Given the description of an element on the screen output the (x, y) to click on. 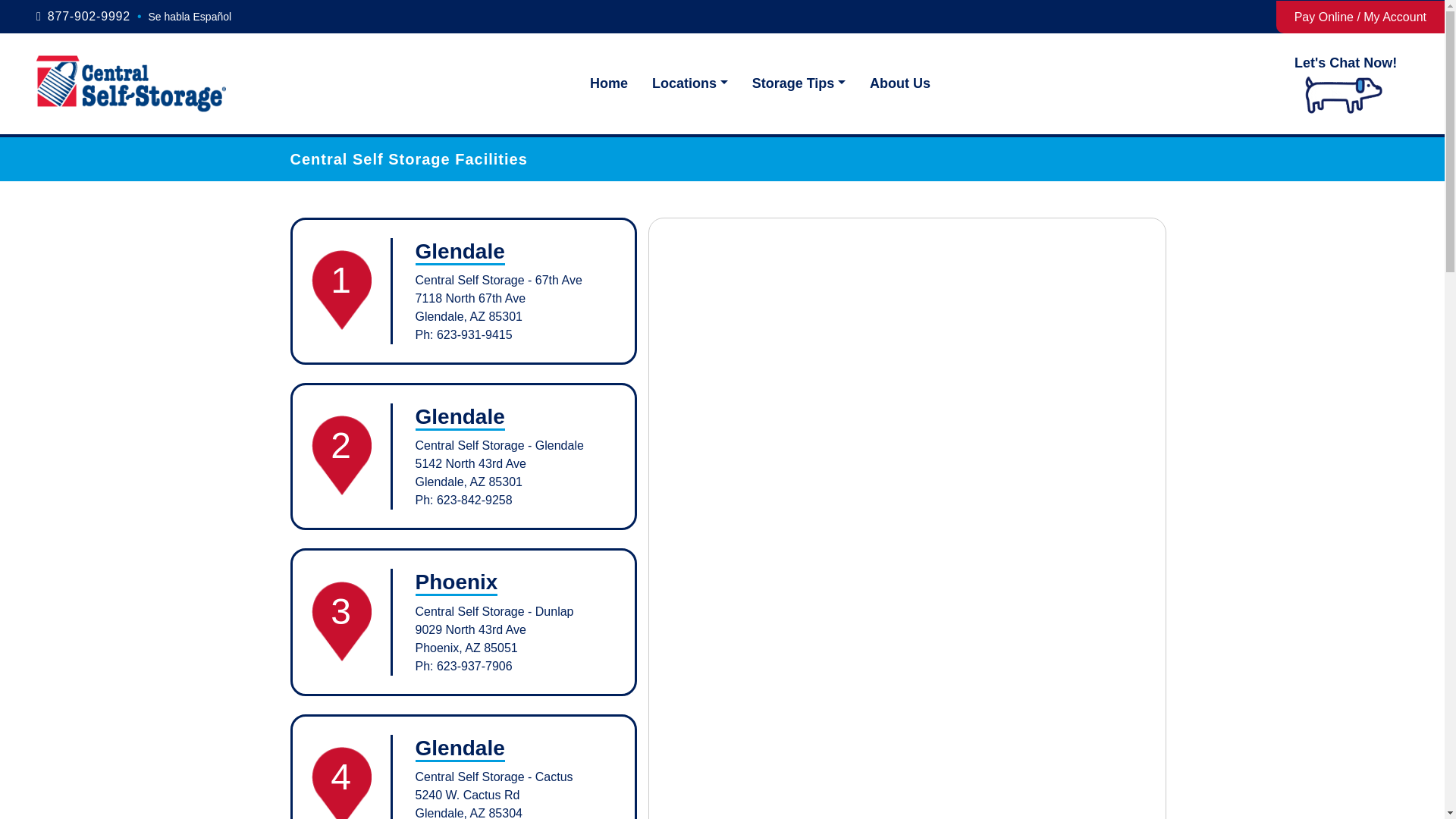
Home (608, 83)
Locations (690, 83)
Locations (690, 83)
Home (608, 83)
skip to main content (13, 6)
877-902-9992 (89, 15)
